Given the description of an element on the screen output the (x, y) to click on. 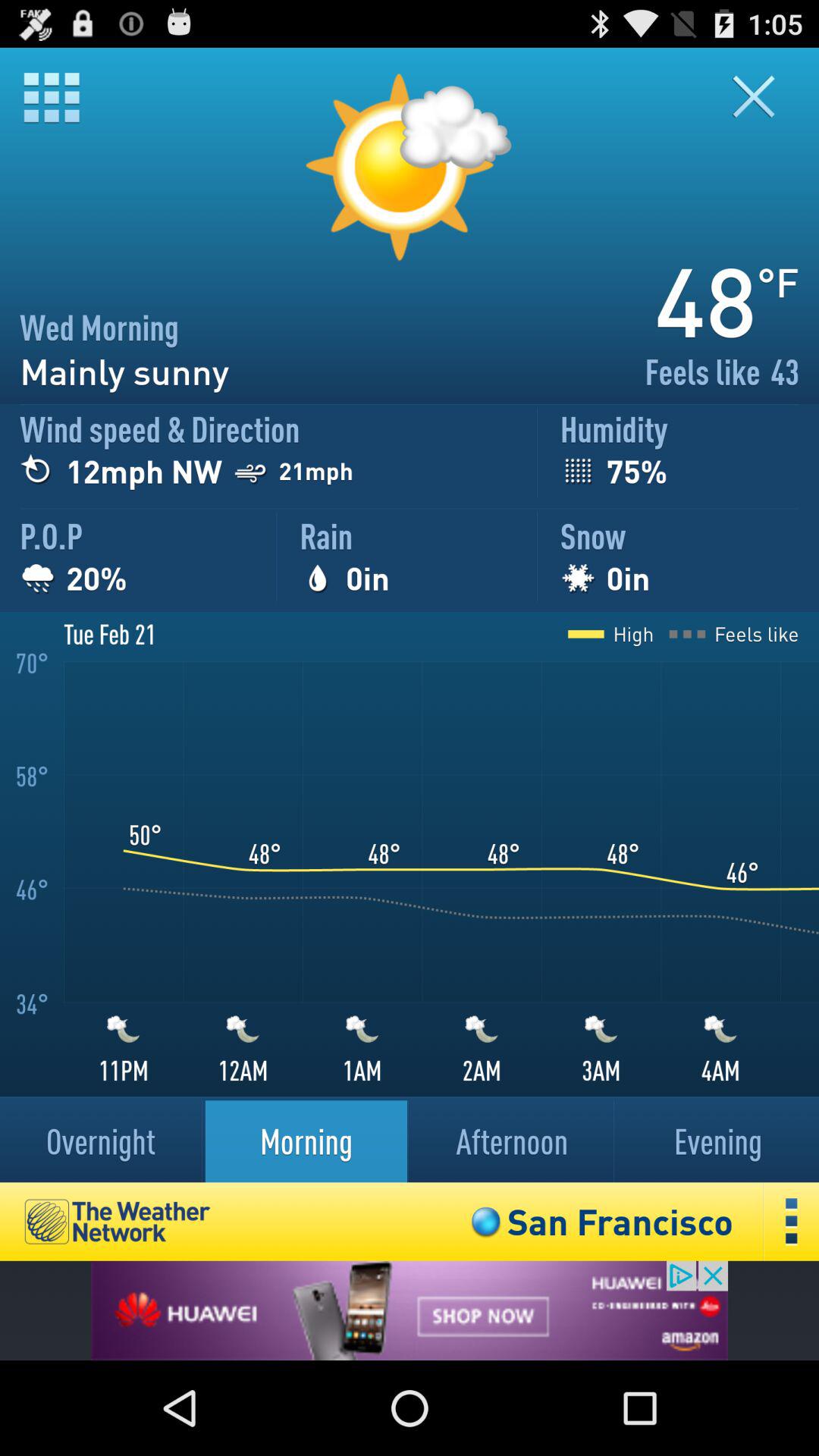
click to more option (791, 1221)
